Given the description of an element on the screen output the (x, y) to click on. 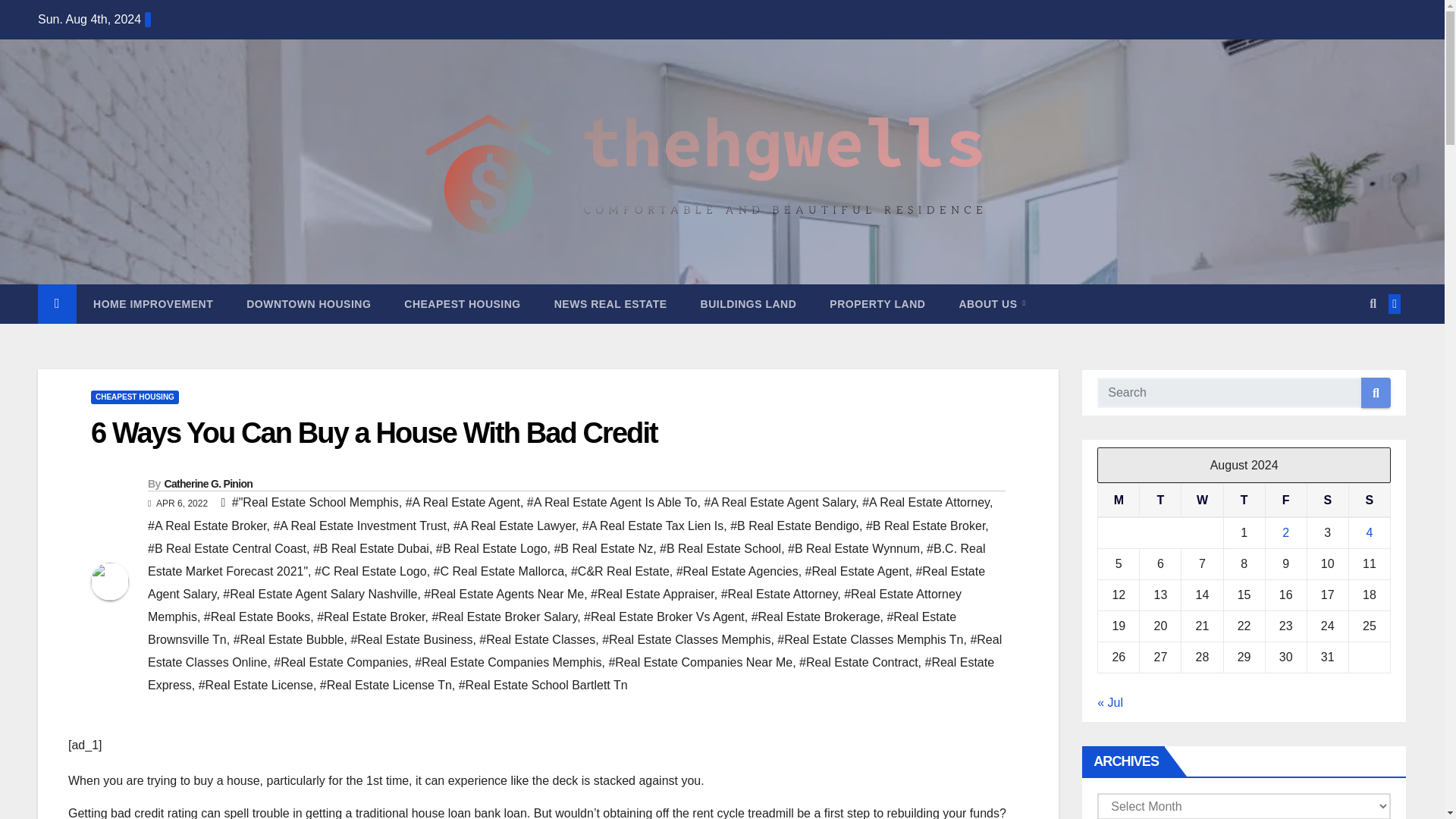
Permalink to: 6 Ways You Can Buy a House With Bad Credit (374, 432)
cheapest housing (462, 303)
DOWNTOWN HOUSING (308, 303)
About Us (992, 303)
HOME IMPROVEMENT (153, 303)
BUILDINGS LAND (748, 303)
6 Ways You Can Buy a House With Bad Credit (374, 432)
PROPERTY LAND (877, 303)
News Real estate (610, 303)
ABOUT US (992, 303)
Home improvement (153, 303)
CHEAPEST HOUSING (134, 397)
Catherine G. Pinion (207, 483)
downtown housing (308, 303)
Property land (877, 303)
